Given the description of an element on the screen output the (x, y) to click on. 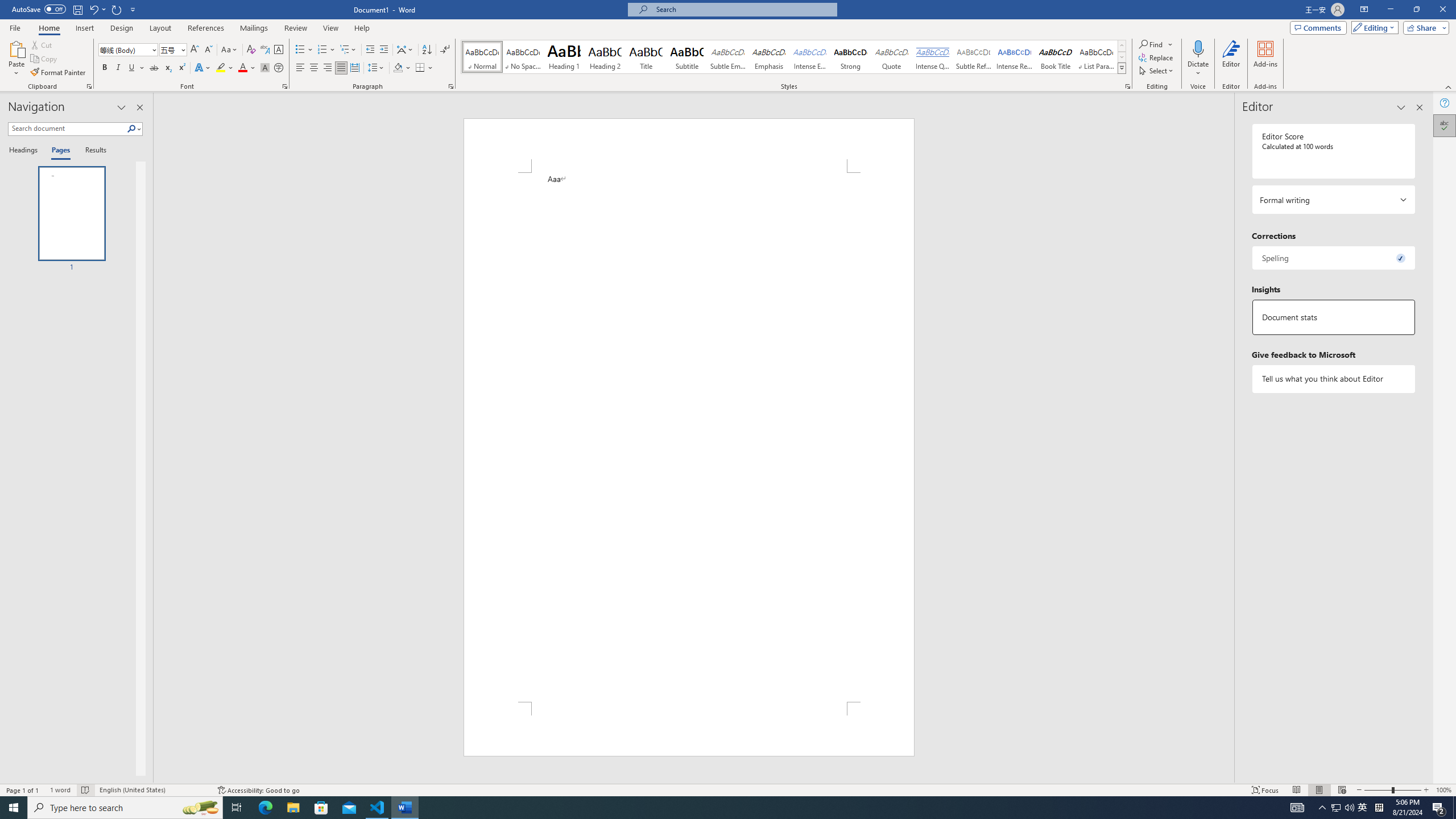
Font Color Red (241, 67)
